Given the description of an element on the screen output the (x, y) to click on. 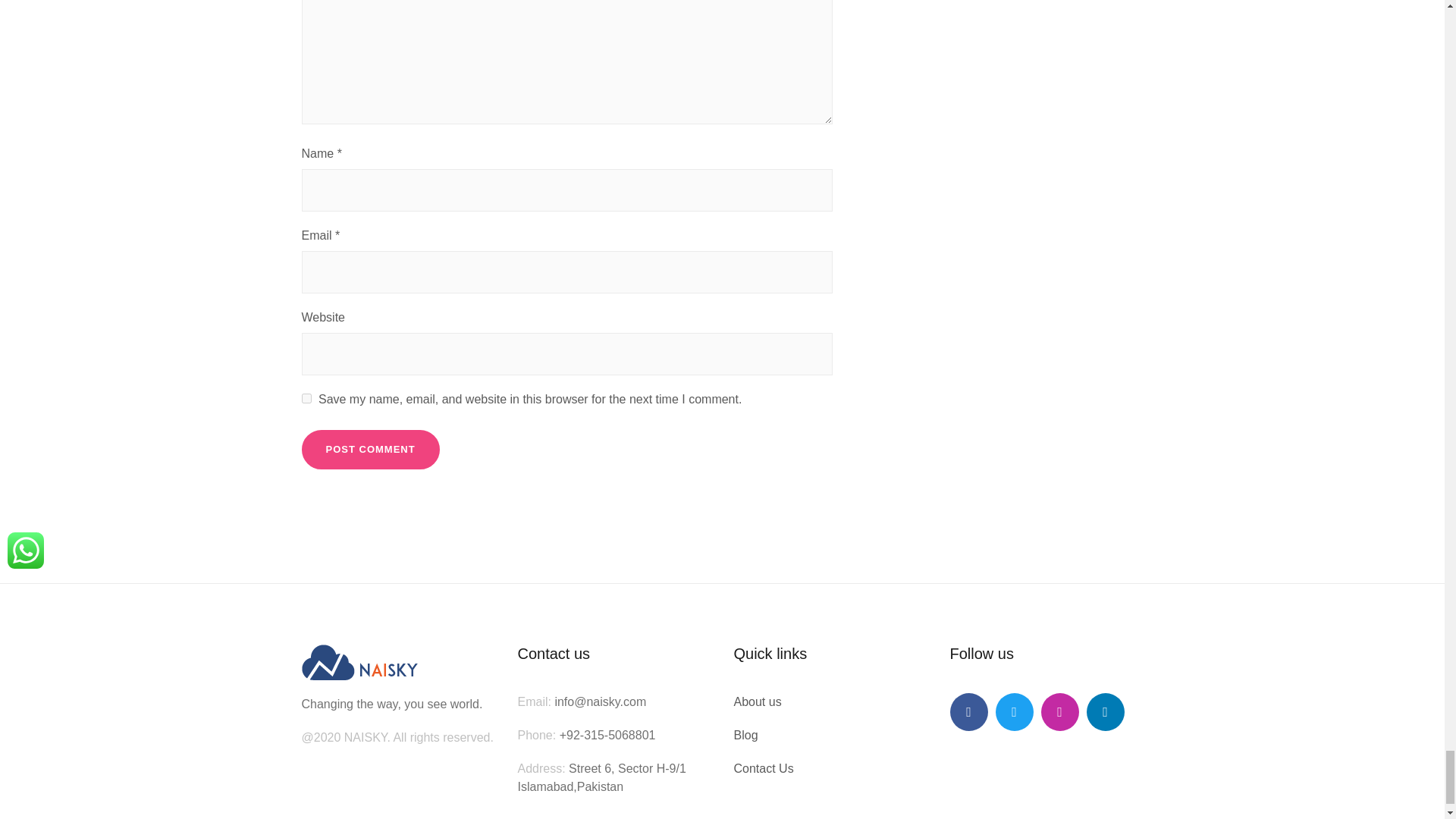
yes (306, 398)
Post Comment (370, 449)
